Given the description of an element on the screen output the (x, y) to click on. 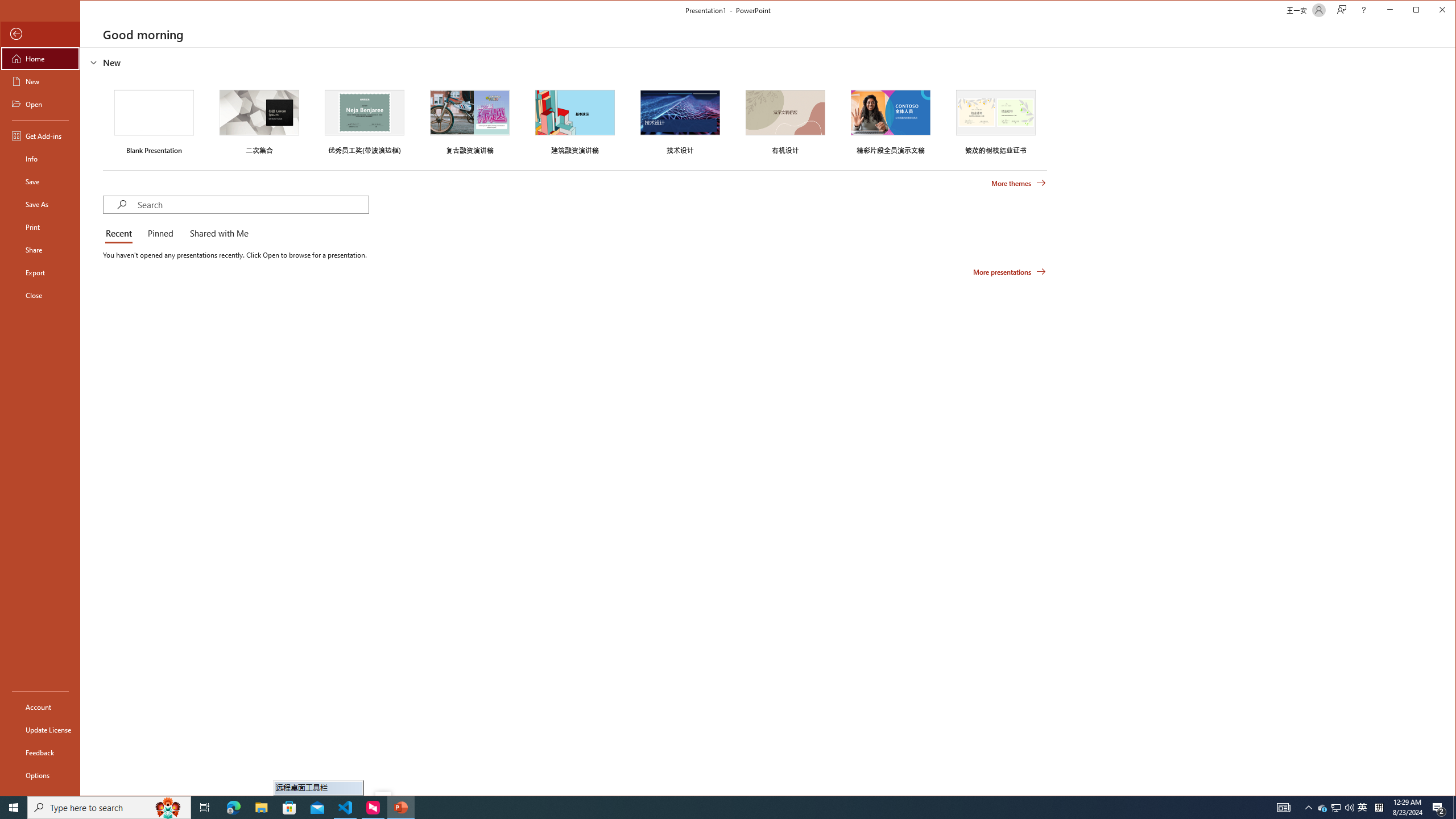
Action Center, 2 new notifications (1439, 807)
Microsoft Edge (233, 807)
Blank Presentation (154, 119)
Running applications (1322, 807)
Options (700, 807)
Print (40, 775)
Hide or show region (40, 226)
